Given the description of an element on the screen output the (x, y) to click on. 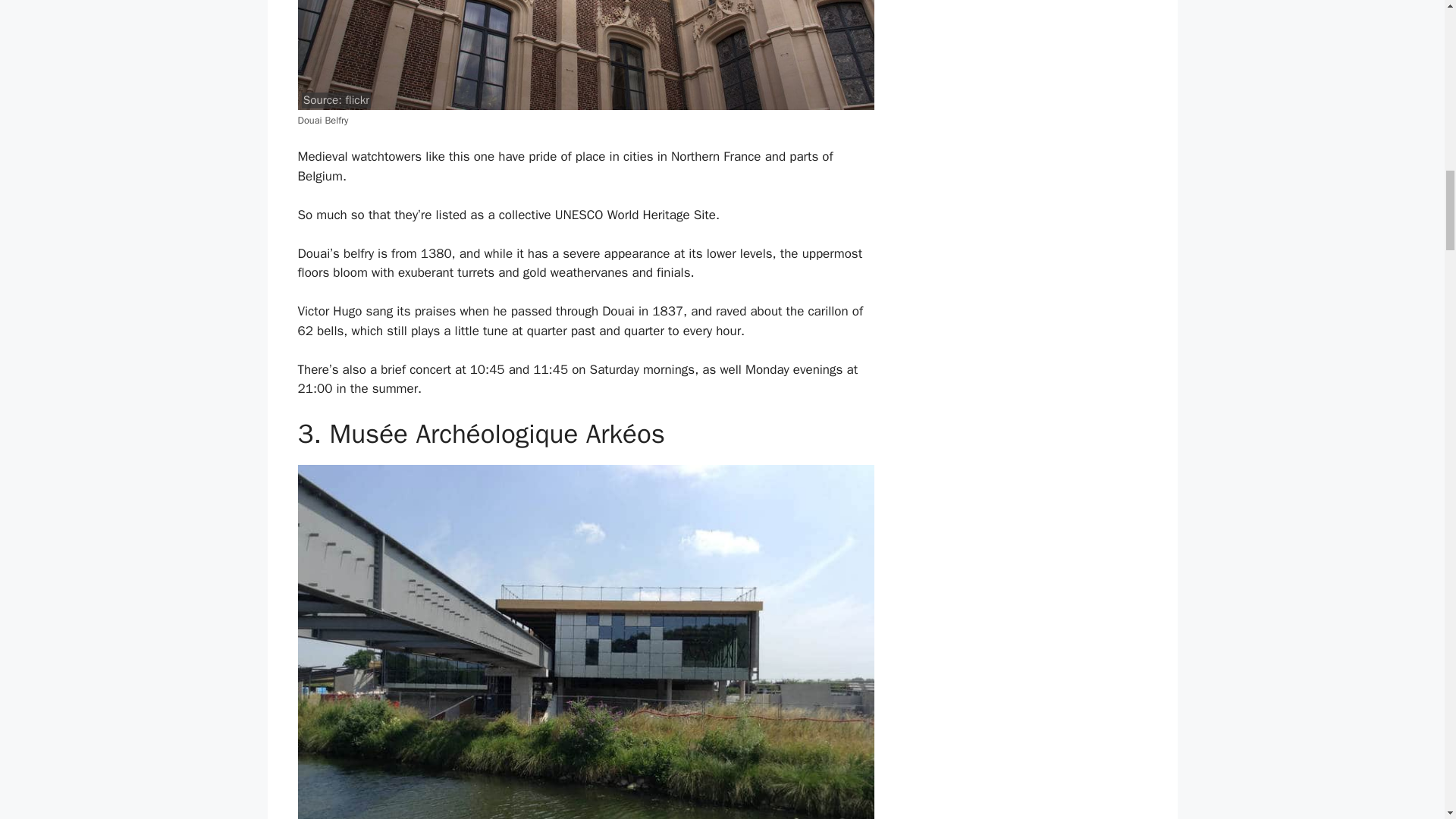
flickr (357, 99)
